Given the description of an element on the screen output the (x, y) to click on. 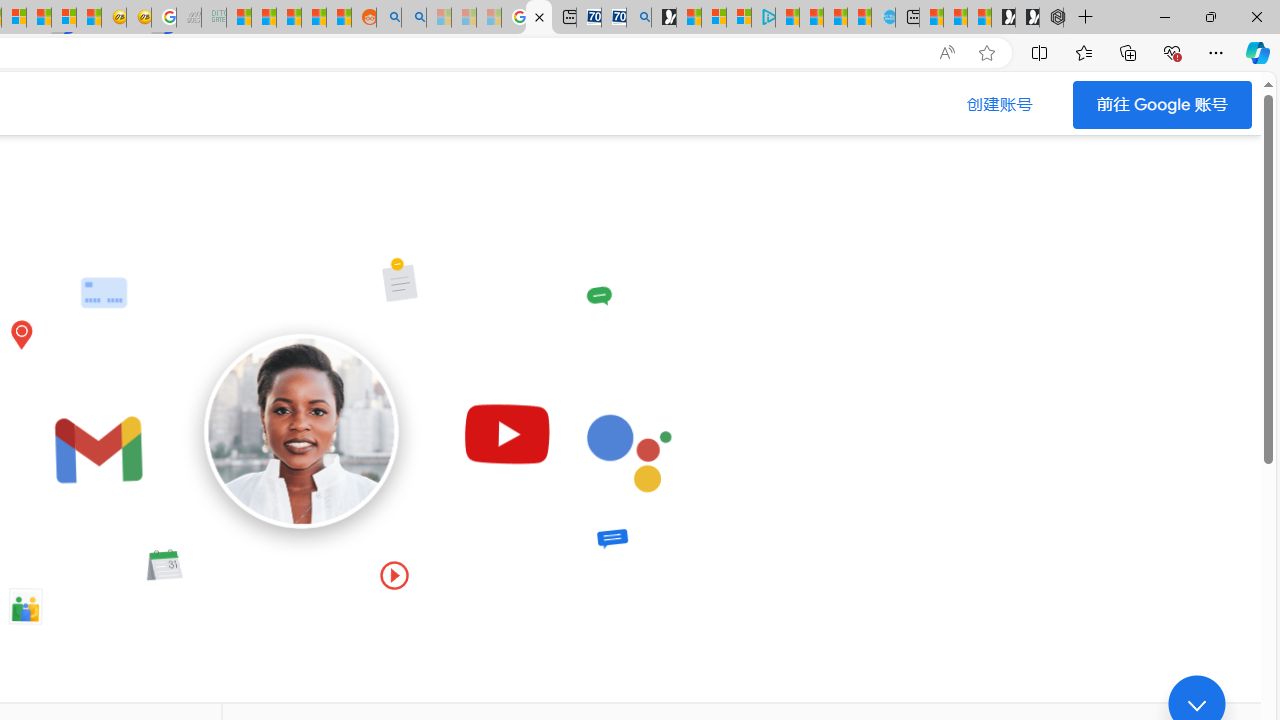
Student Loan Update: Forgiveness Program Ends This Month (314, 17)
